Given the description of an element on the screen output the (x, y) to click on. 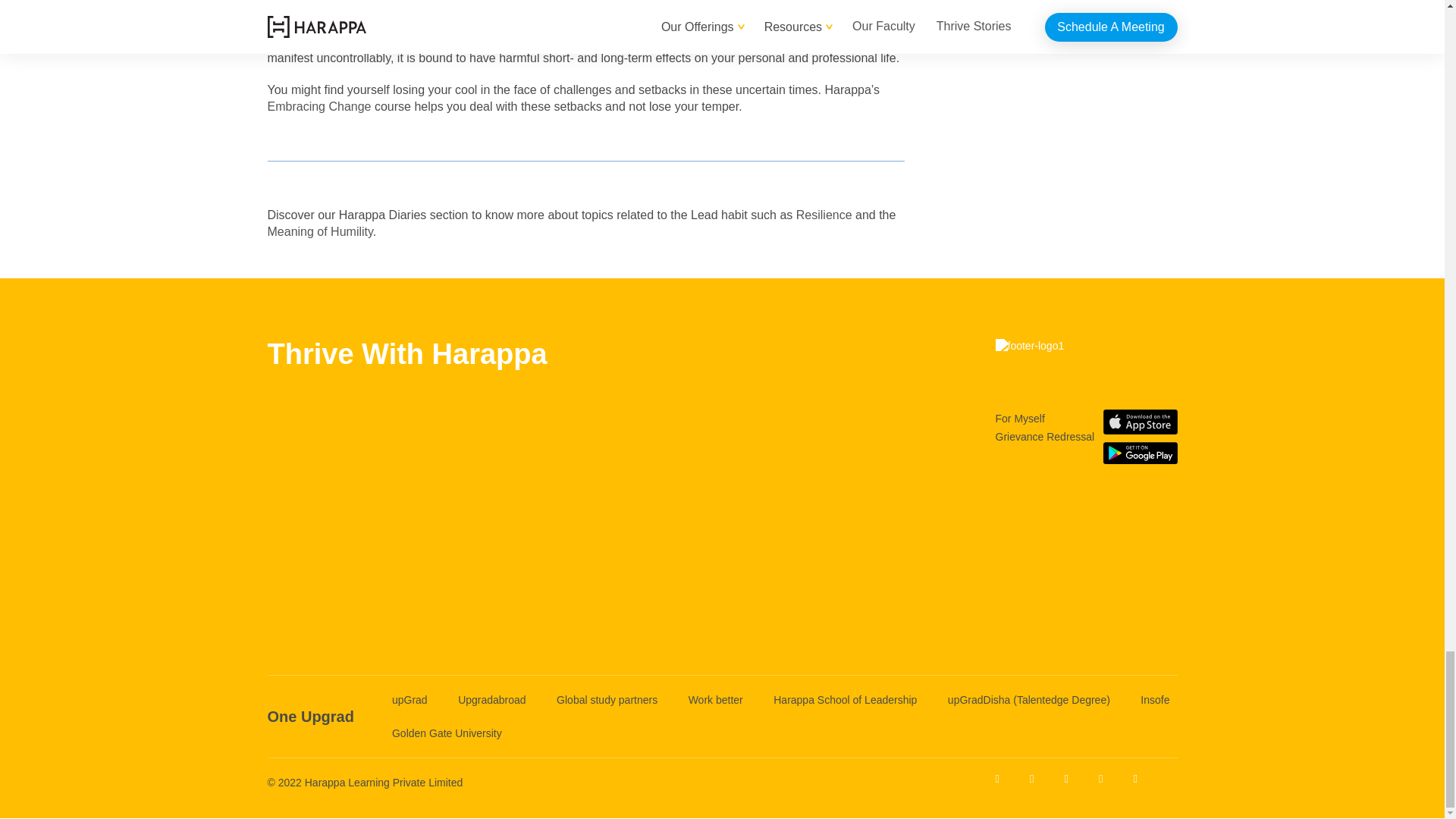
Global study partners (606, 699)
Insofe (1154, 699)
upGrad (409, 699)
Golden Gate University (446, 733)
Resilience (823, 214)
Embracing Change (318, 106)
Work better (716, 699)
Meaning of Humility (319, 231)
For Myself (1018, 418)
Form 0 (406, 505)
Grievance Redressal (1044, 436)
footer-logo1 (1085, 359)
Upgradabroad (491, 699)
Harappa School of Leadership (844, 699)
